Given the description of an element on the screen output the (x, y) to click on. 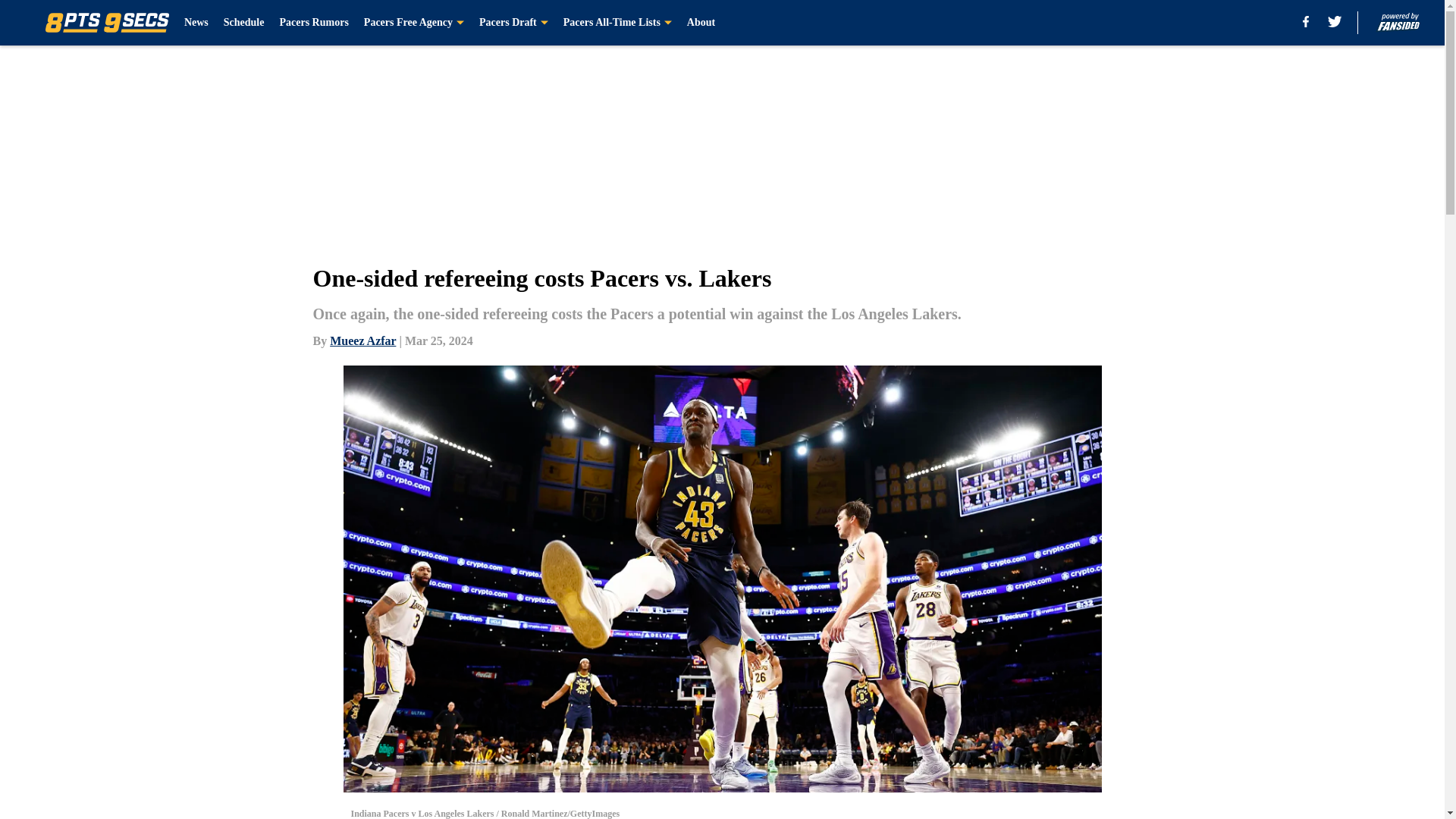
Pacers Rumors (313, 22)
Mueez Azfar (363, 340)
News (196, 22)
About (700, 22)
Schedule (244, 22)
